Given the description of an element on the screen output the (x, y) to click on. 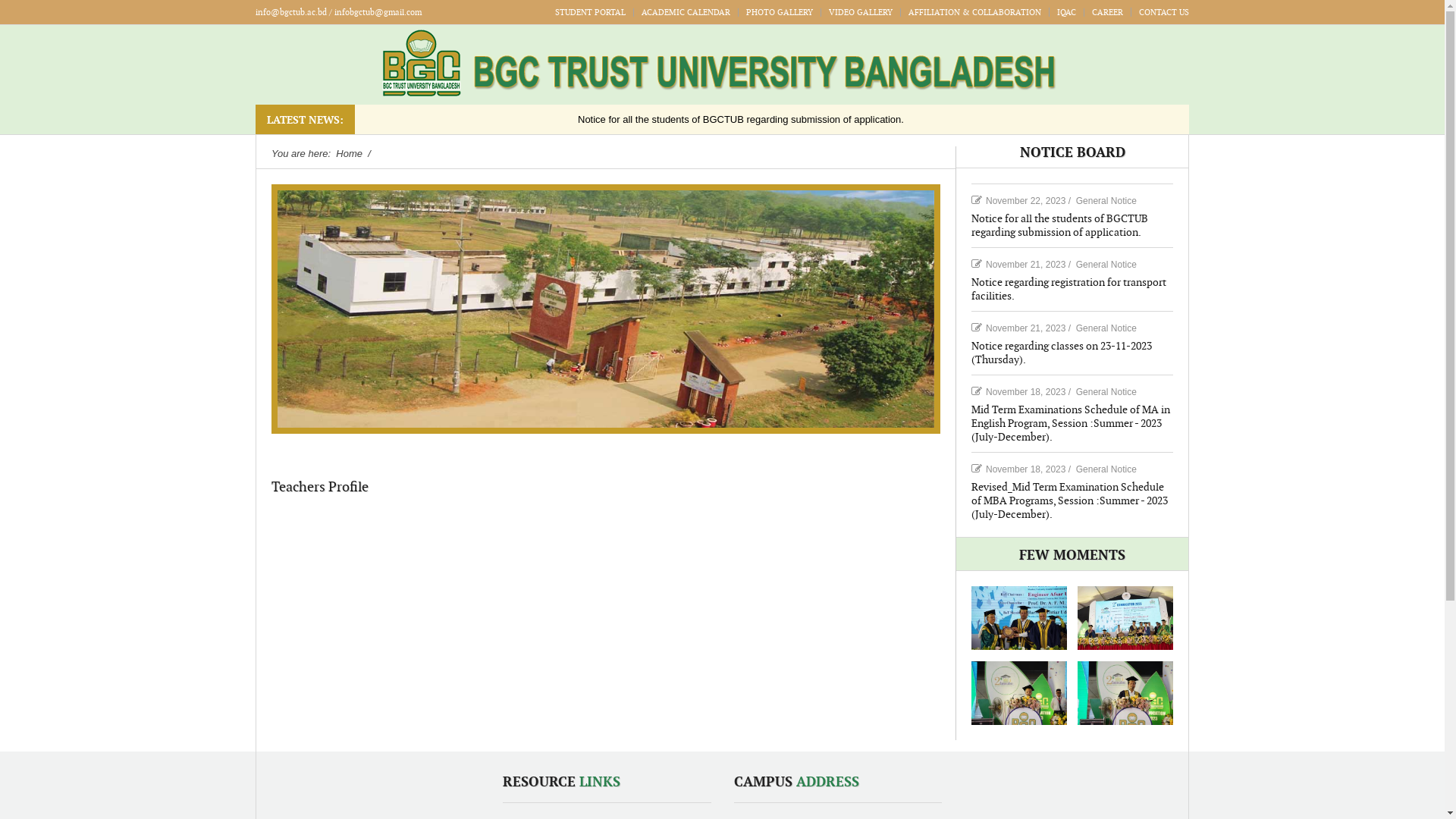
AFFILIATION & COLLABORATION Element type: text (974, 12)
VIDEO GALLERY Element type: text (860, 12)
Home Element type: text (349, 153)
General Notice Element type: text (1106, 328)
General Notice Element type: text (1106, 469)
PHOTO GALLERY Element type: text (779, 12)
Notice regarding registration for transport facilities. Element type: text (1068, 289)
General Notice Element type: text (1106, 264)
CAREER Element type: text (1107, 12)
ACADEMIC CALENDAR Element type: text (685, 12)
CONTACT US Element type: text (1164, 12)
info@bgctub.ac.bd / infobgctub@gmail.com Element type: text (338, 12)
General Notice Element type: text (1106, 200)
STUDENT PORTAL Element type: text (590, 12)
General Notice Element type: text (1106, 391)
IQAC Element type: text (1066, 12)
Notice regarding classes on 23-11-2023 (Thursday). Element type: text (1061, 352)
